Given the description of an element on the screen output the (x, y) to click on. 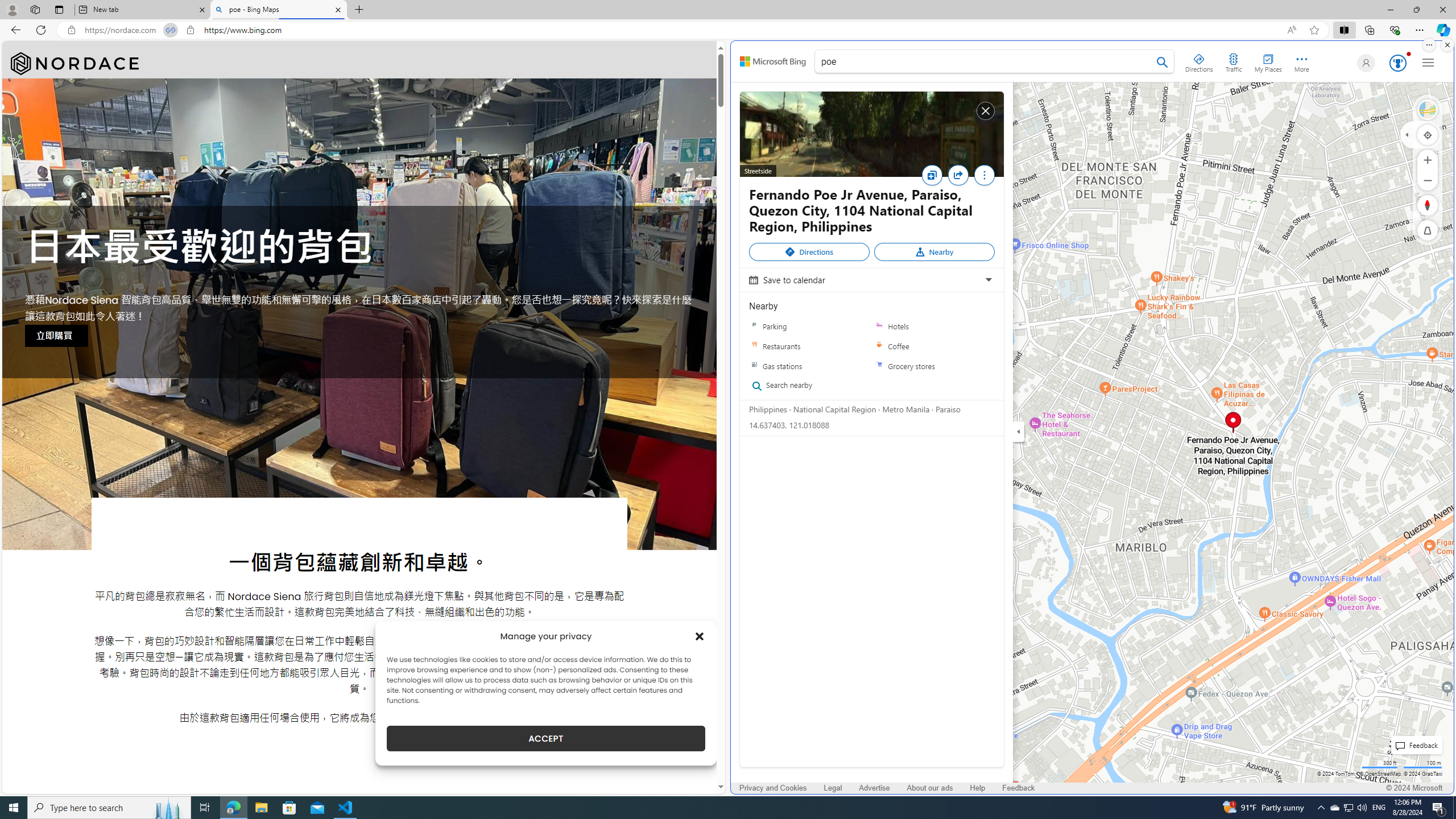
Save (934, 178)
Privacy and Cookies (772, 787)
Traffic (1232, 60)
Tabs in split screen (170, 29)
Nearby (933, 252)
Grocery stores (933, 365)
Grocery stores (879, 365)
Streetside (1427, 109)
Help (977, 787)
Hotels (879, 326)
